Given the description of an element on the screen output the (x, y) to click on. 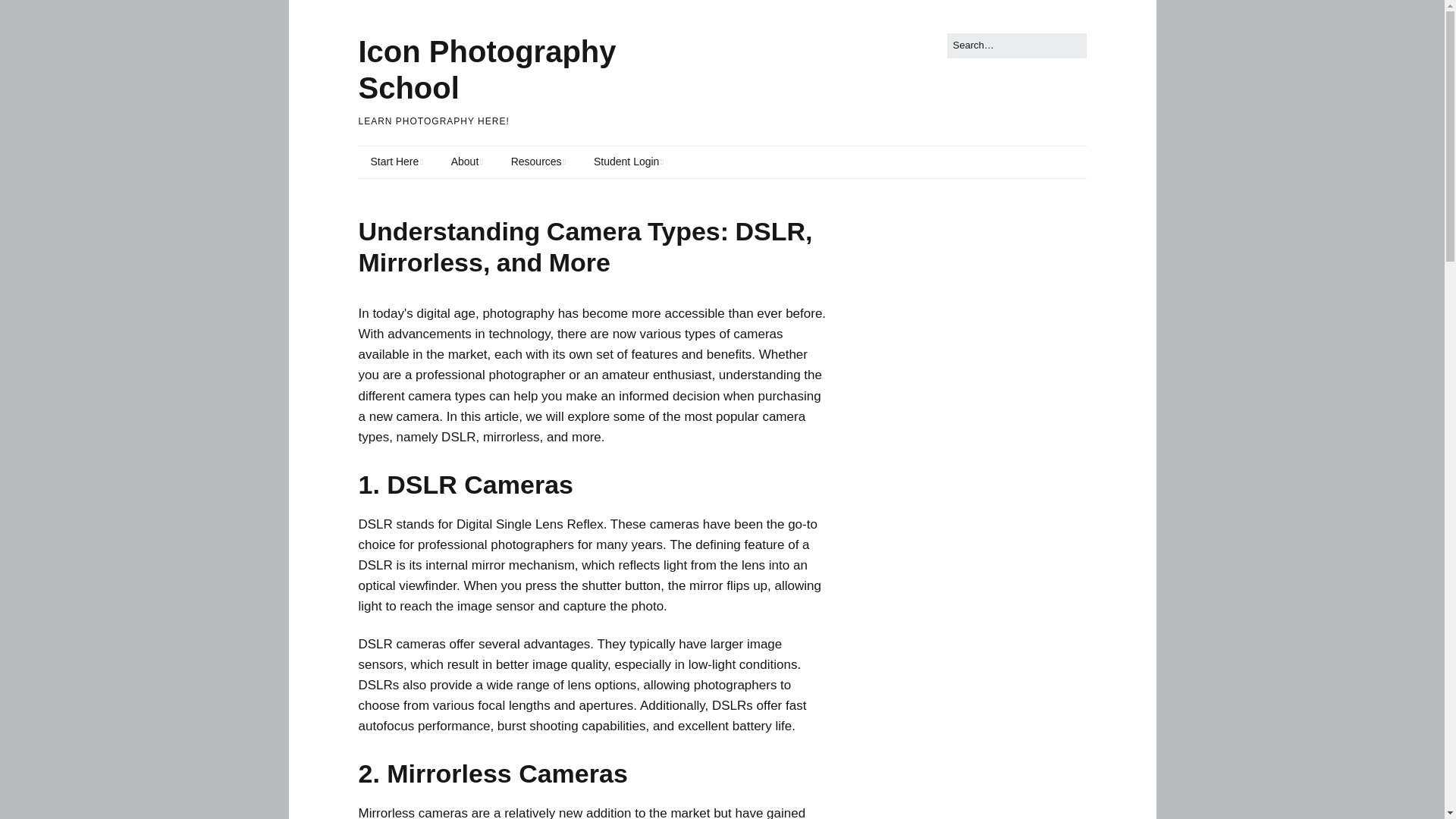
Press Enter to submit your search (1016, 45)
Resources (538, 162)
Icon Photography School (486, 69)
Search (29, 15)
Student Login (627, 162)
Start Here (395, 162)
Advertisement (992, 439)
About (467, 162)
